Given the description of an element on the screen output the (x, y) to click on. 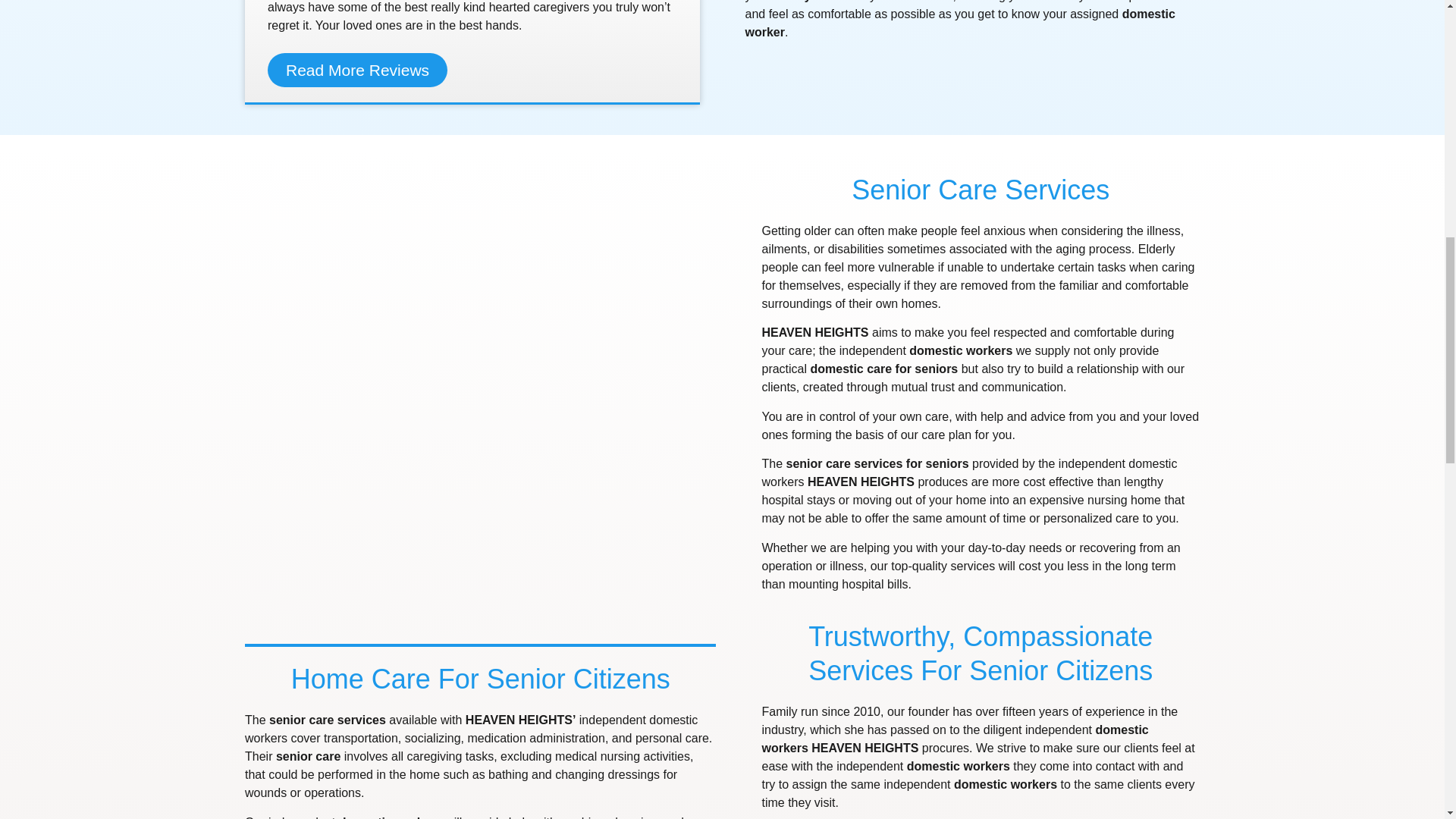
Read More Reviews (356, 69)
